Given the description of an element on the screen output the (x, y) to click on. 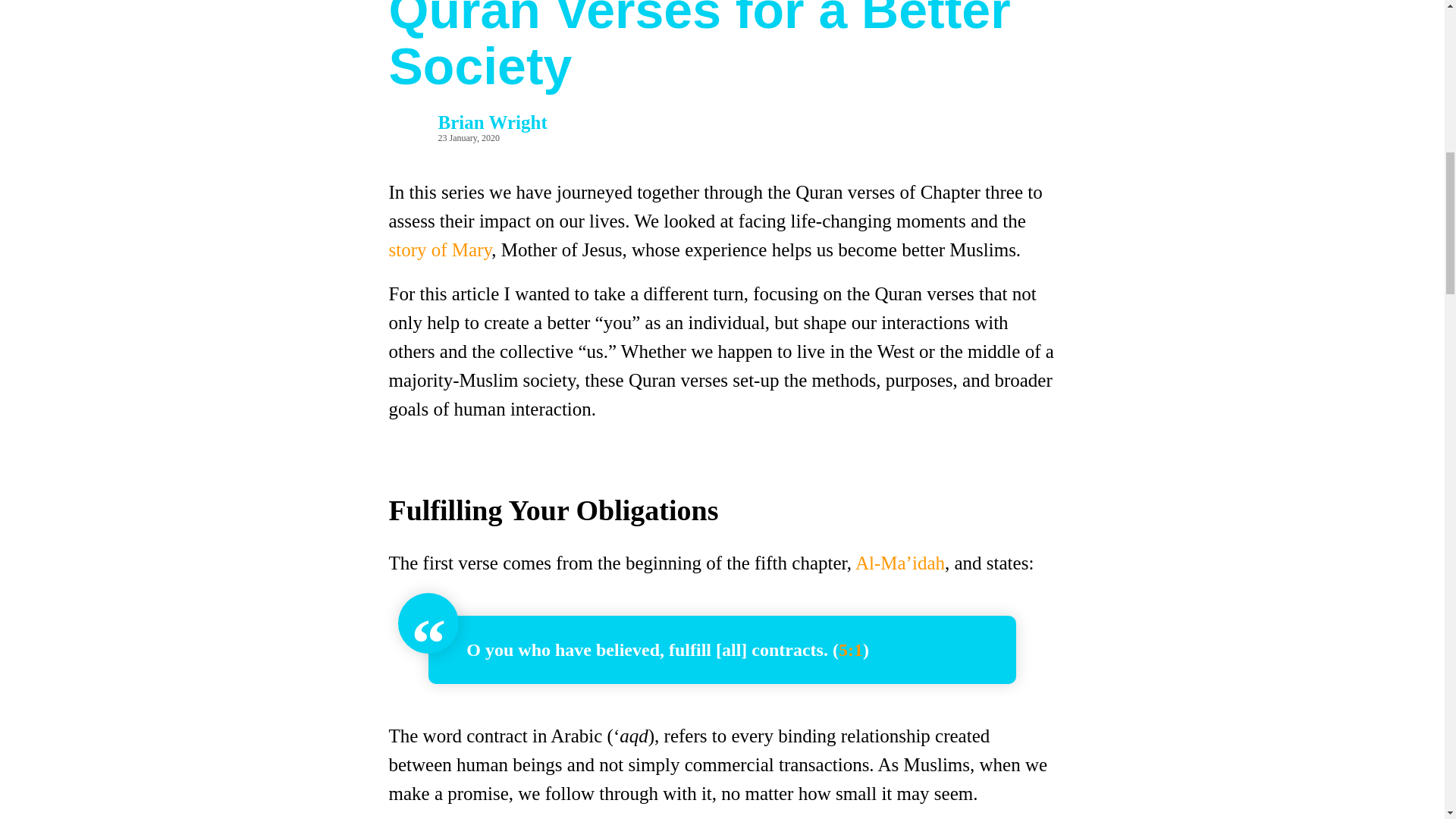
Brian Wright (492, 122)
5:1 (850, 649)
story of Mary (440, 249)
